Given the description of an element on the screen output the (x, y) to click on. 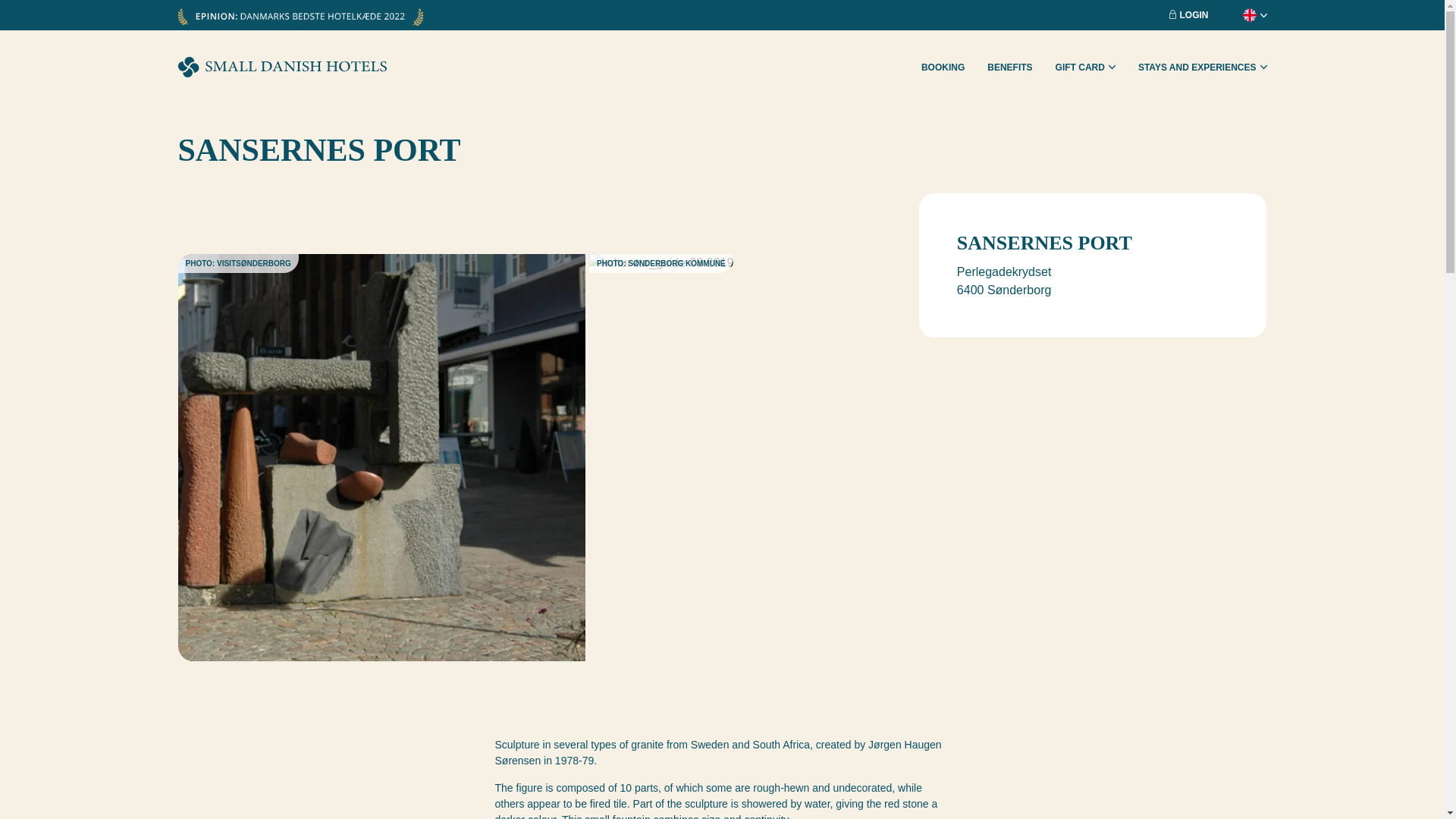
GIFT CARD (1084, 67)
DANISH (1223, 29)
BENEFITS (1009, 67)
Current language: English (1243, 15)
LOGIN (1188, 15)
Small Danish Hotels (281, 66)
BOOKING (942, 67)
STAYS AND EXPERIENCES (1202, 67)
